Given the description of an element on the screen output the (x, y) to click on. 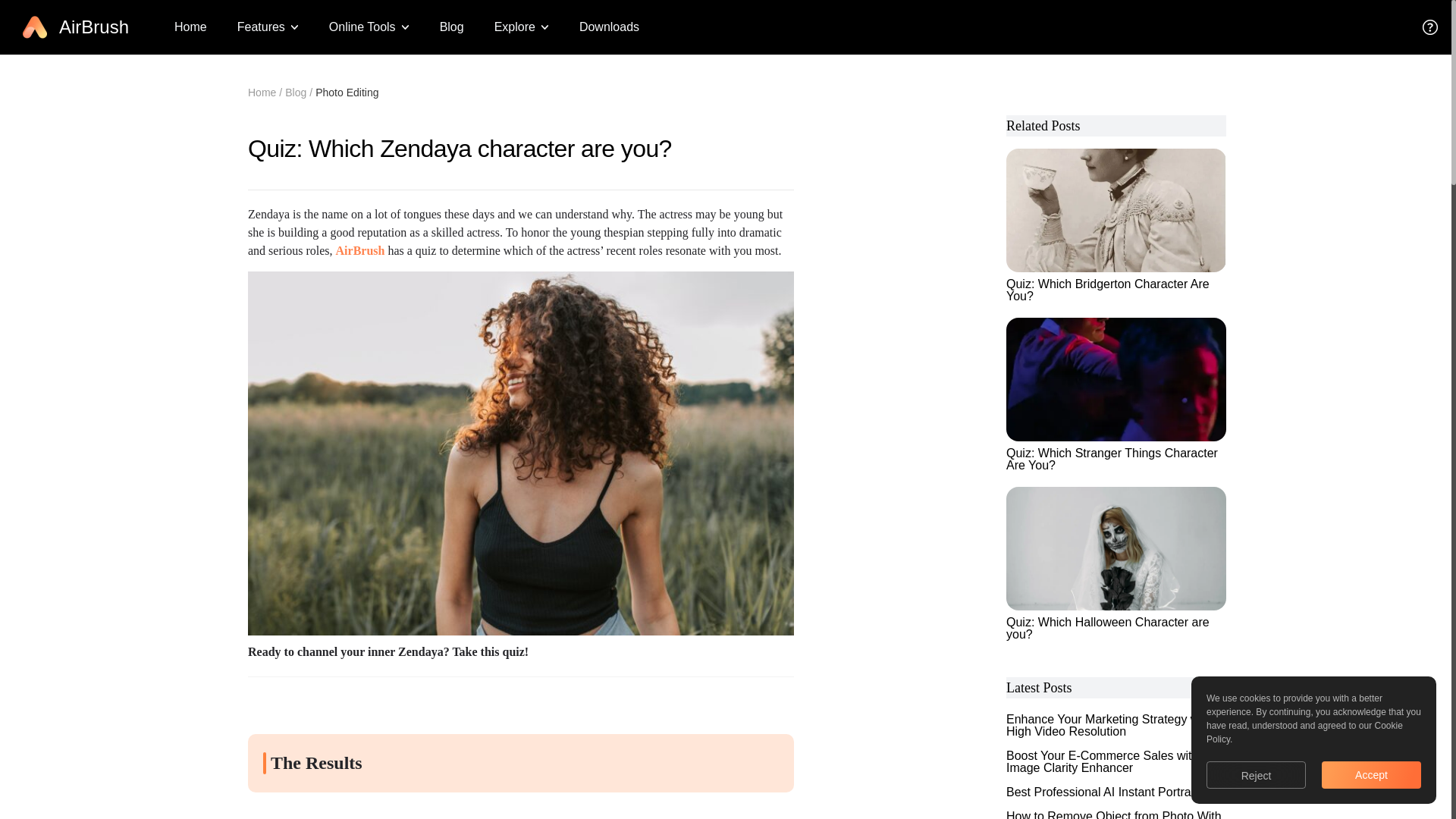
Downloads (609, 27)
Blog (451, 27)
Quiz: Which Bridgerton Character Are You? (1115, 225)
Quiz: Which Halloween Character are you? (1115, 563)
Blog (295, 92)
Photo Editing (346, 92)
Quiz: Which Stranger Things Character Are You? (1115, 394)
Enhance Your Marketing Strategy with High Video Resolution (1114, 725)
Best Professional AI Instant Portrait App (1114, 792)
Boost Your E-Commerce Sales with an Image Clarity Enhancer (1114, 761)
How to Remove Object from Photo With AirBrush's App (1114, 814)
AirBrush (360, 250)
Home (261, 92)
Home (190, 27)
